Given the description of an element on the screen output the (x, y) to click on. 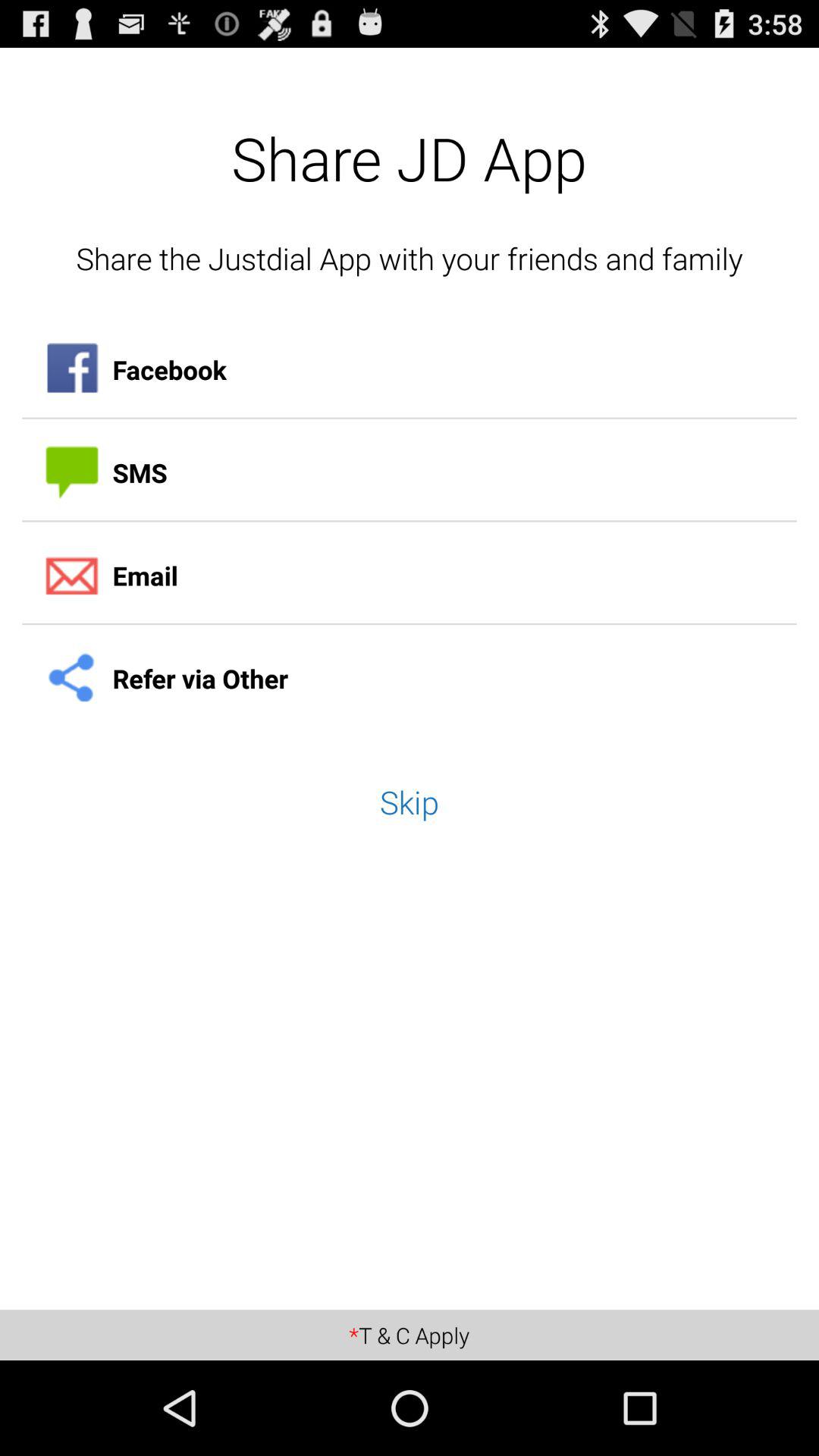
open the button below sms button (409, 575)
